Given the description of an element on the screen output the (x, y) to click on. 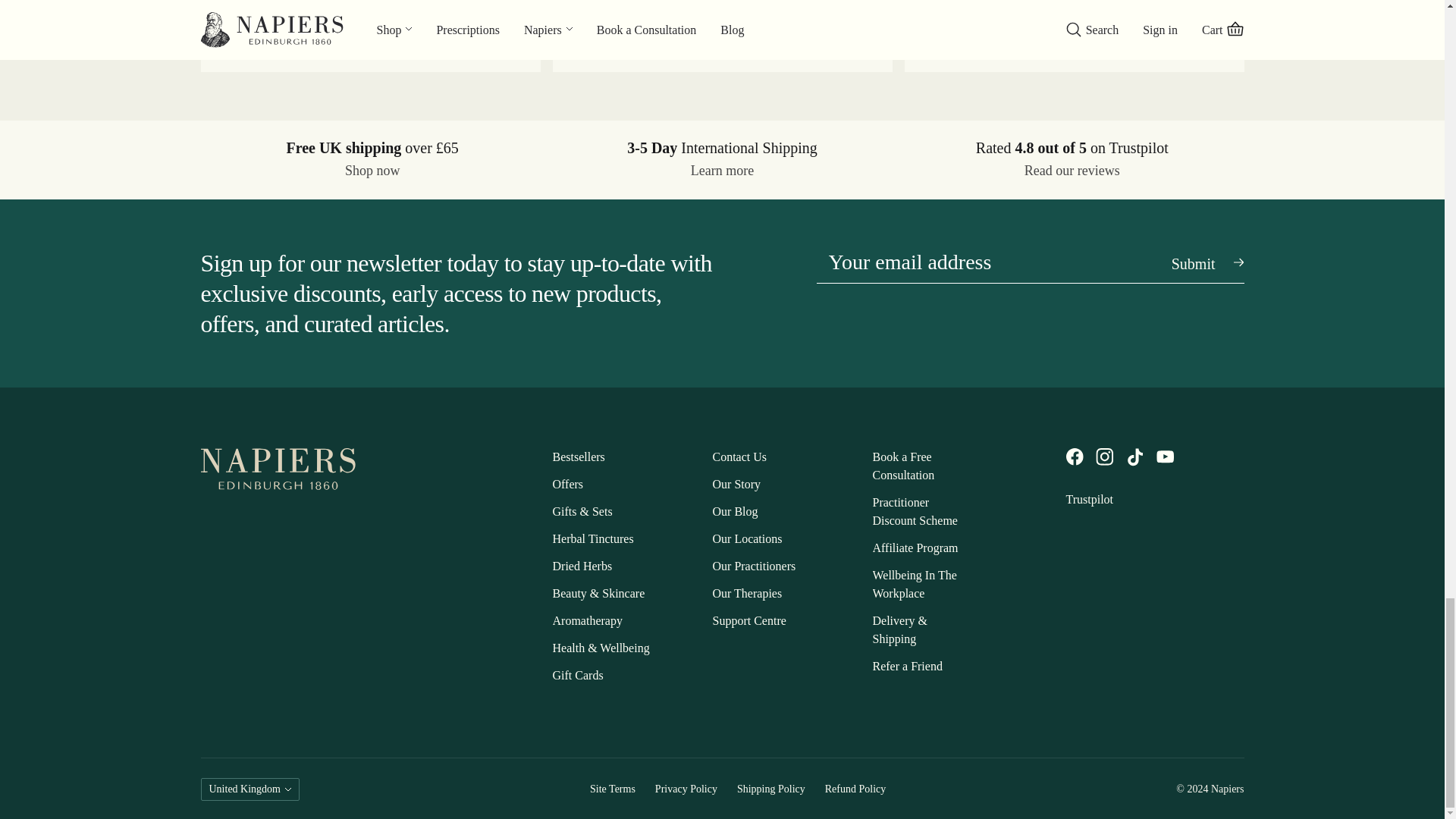
Submit (1192, 261)
